Given the description of an element on the screen output the (x, y) to click on. 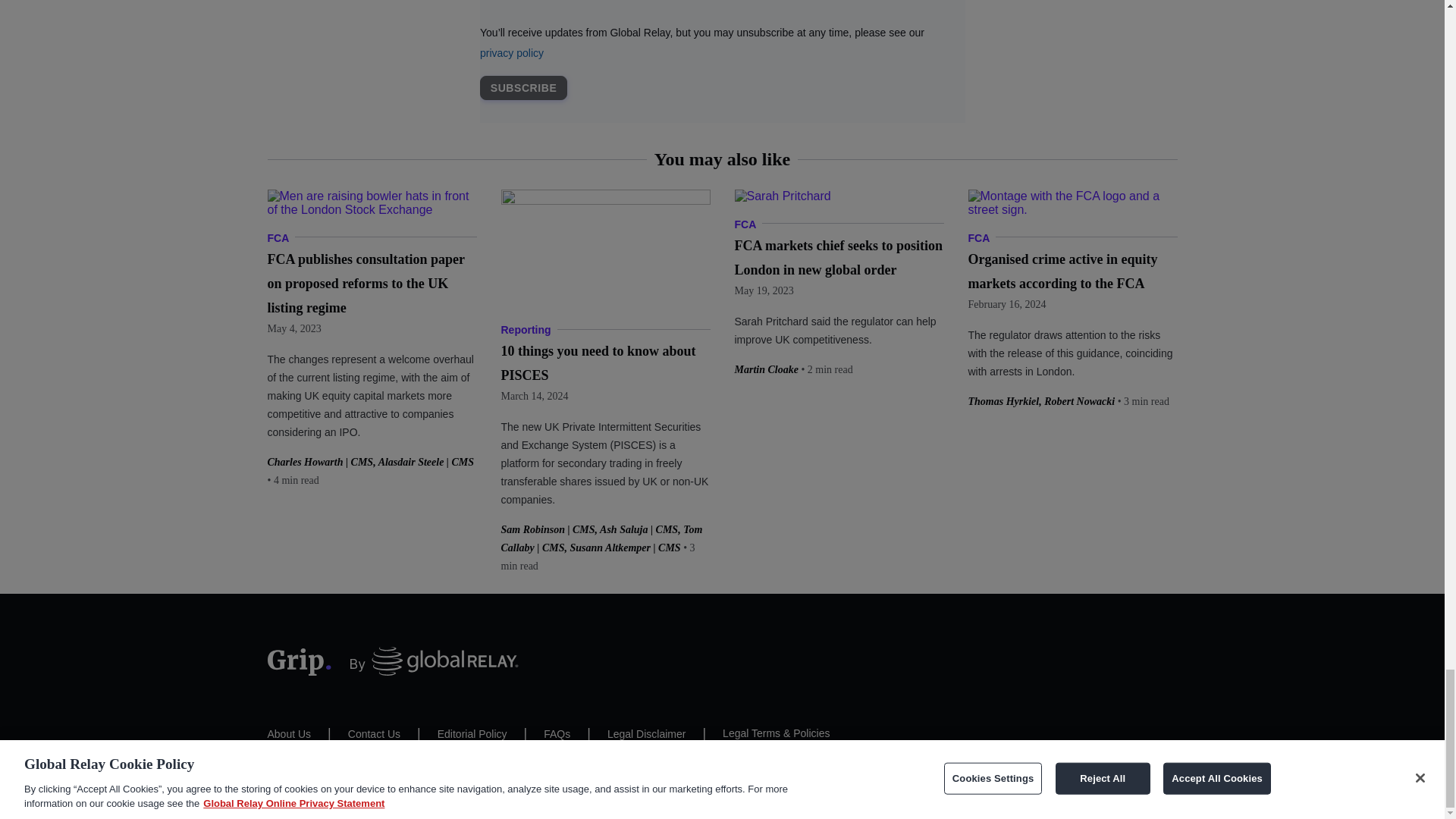
Grip newsletter Form (721, 61)
